Given the description of an element on the screen output the (x, y) to click on. 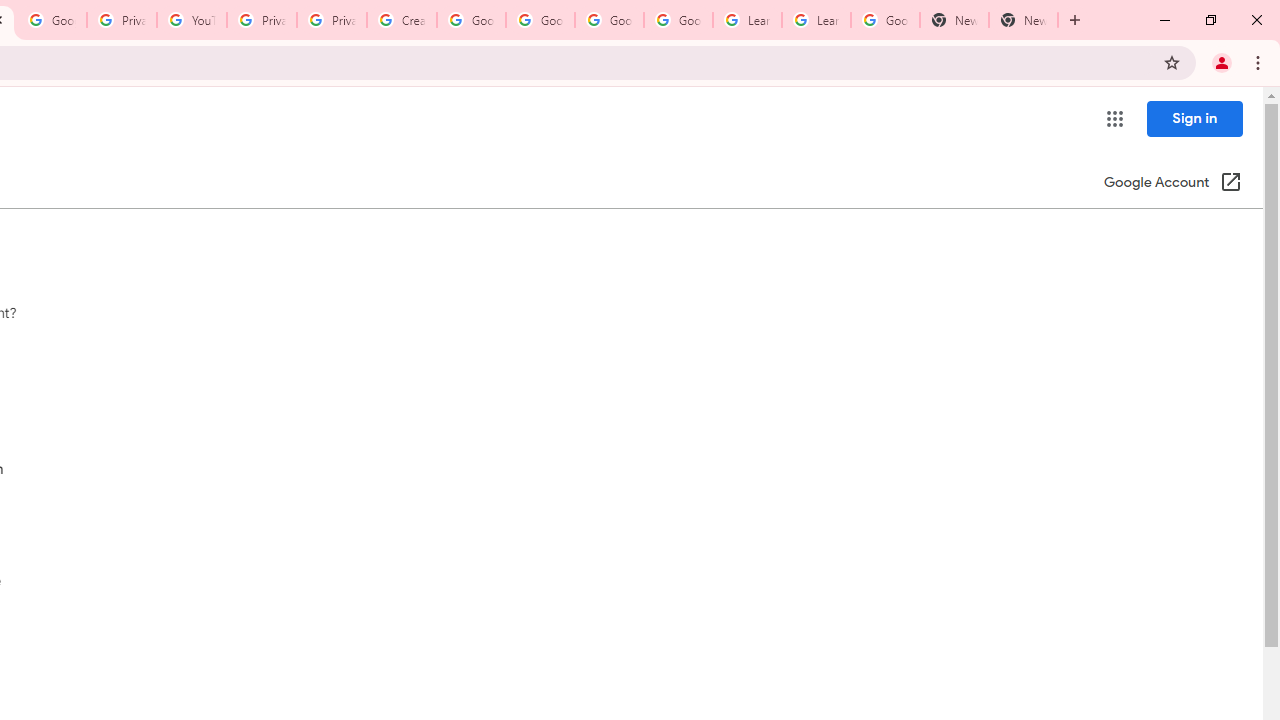
New Tab (1023, 20)
Google Account (Open in a new window) (1172, 183)
YouTube (191, 20)
Google Account Help (539, 20)
